Given the description of an element on the screen output the (x, y) to click on. 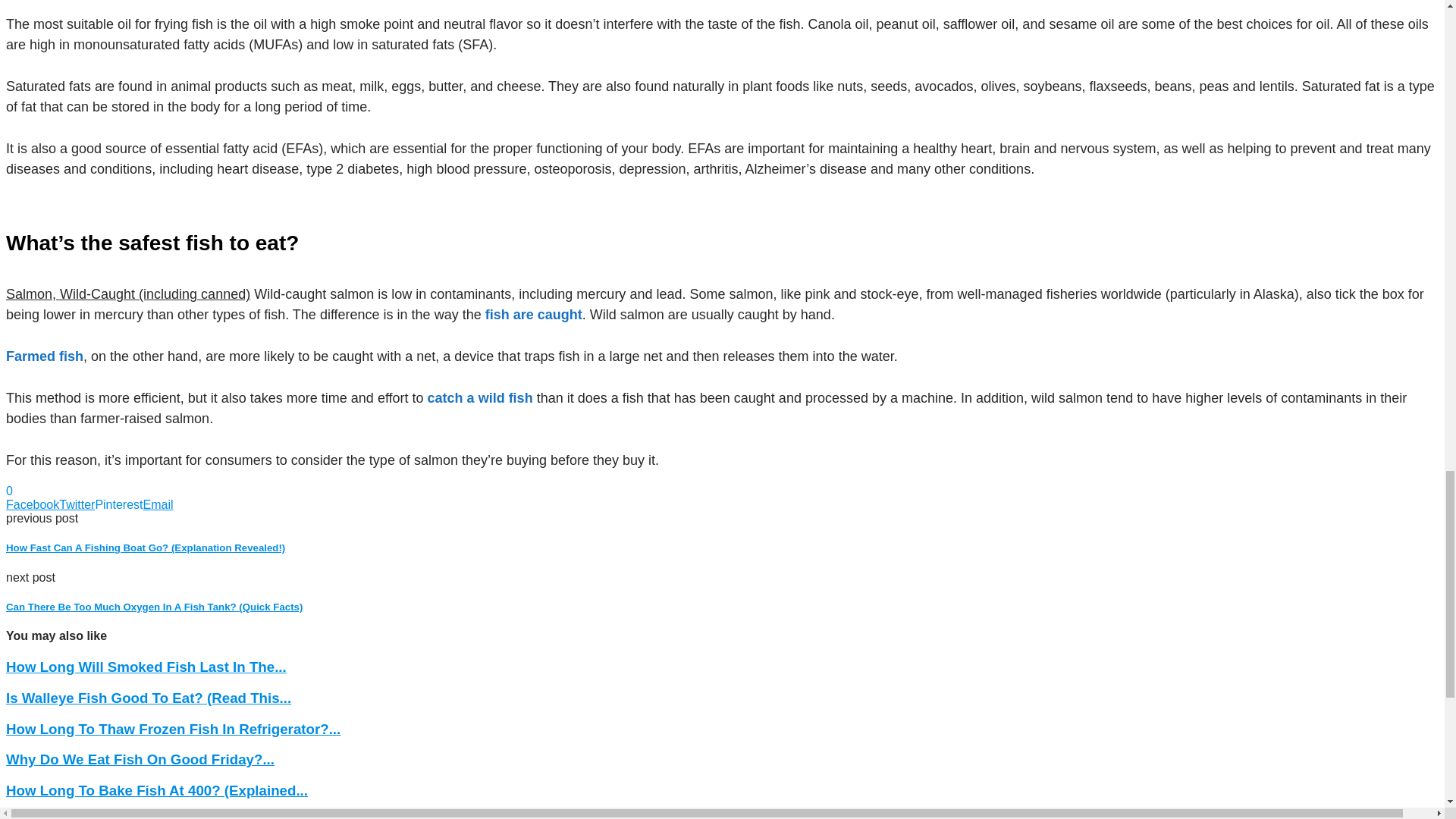
fish are caught (533, 314)
Twitter (76, 504)
Facebook (32, 504)
Farmed fish (43, 355)
Pinterest (118, 504)
catch a wild fish (480, 397)
